Given the description of an element on the screen output the (x, y) to click on. 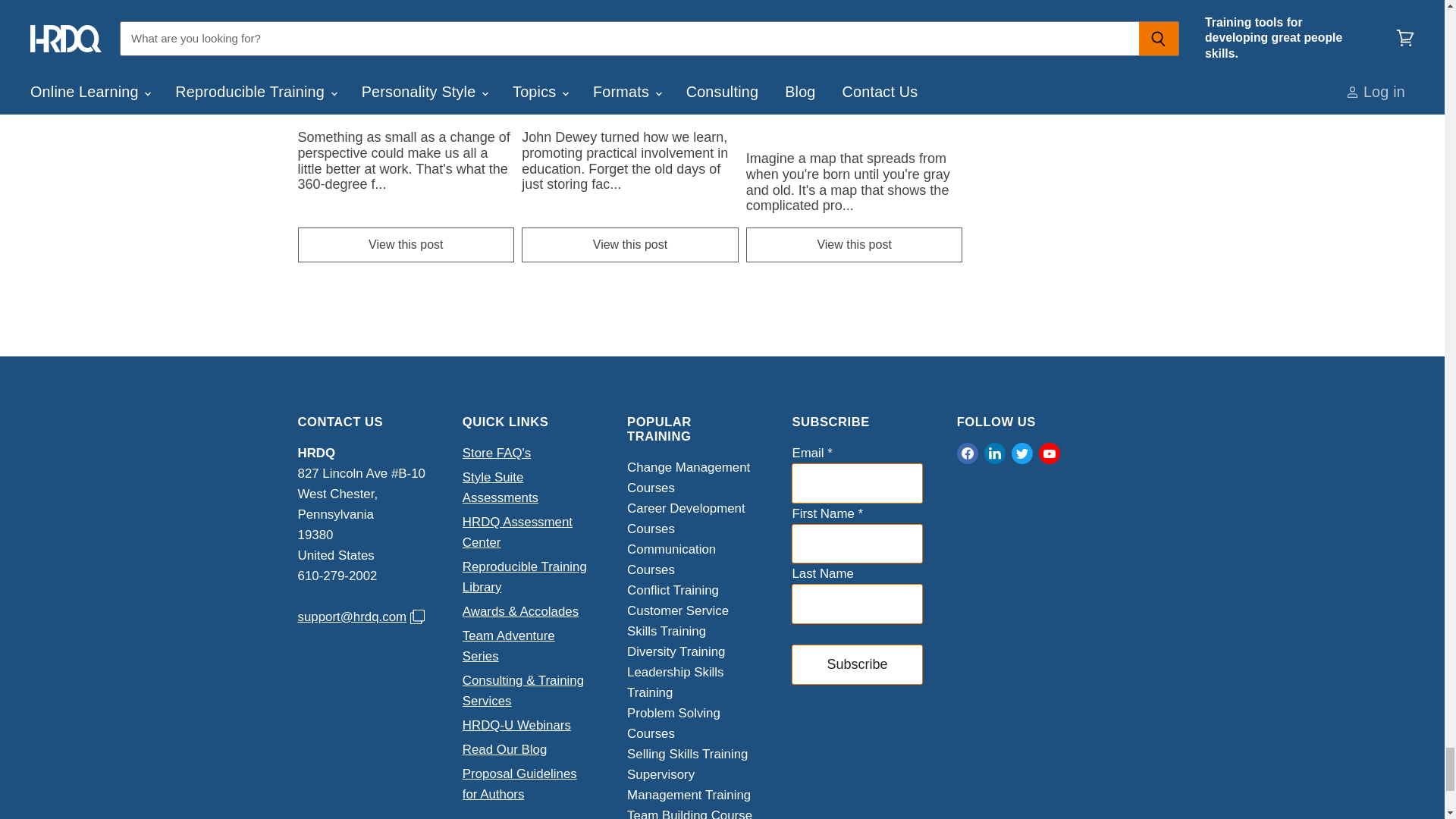
YouTube (1048, 452)
Facebook (967, 452)
Subscribe (856, 664)
LinkedIn (995, 452)
Twitter (1022, 452)
